Given the description of an element on the screen output the (x, y) to click on. 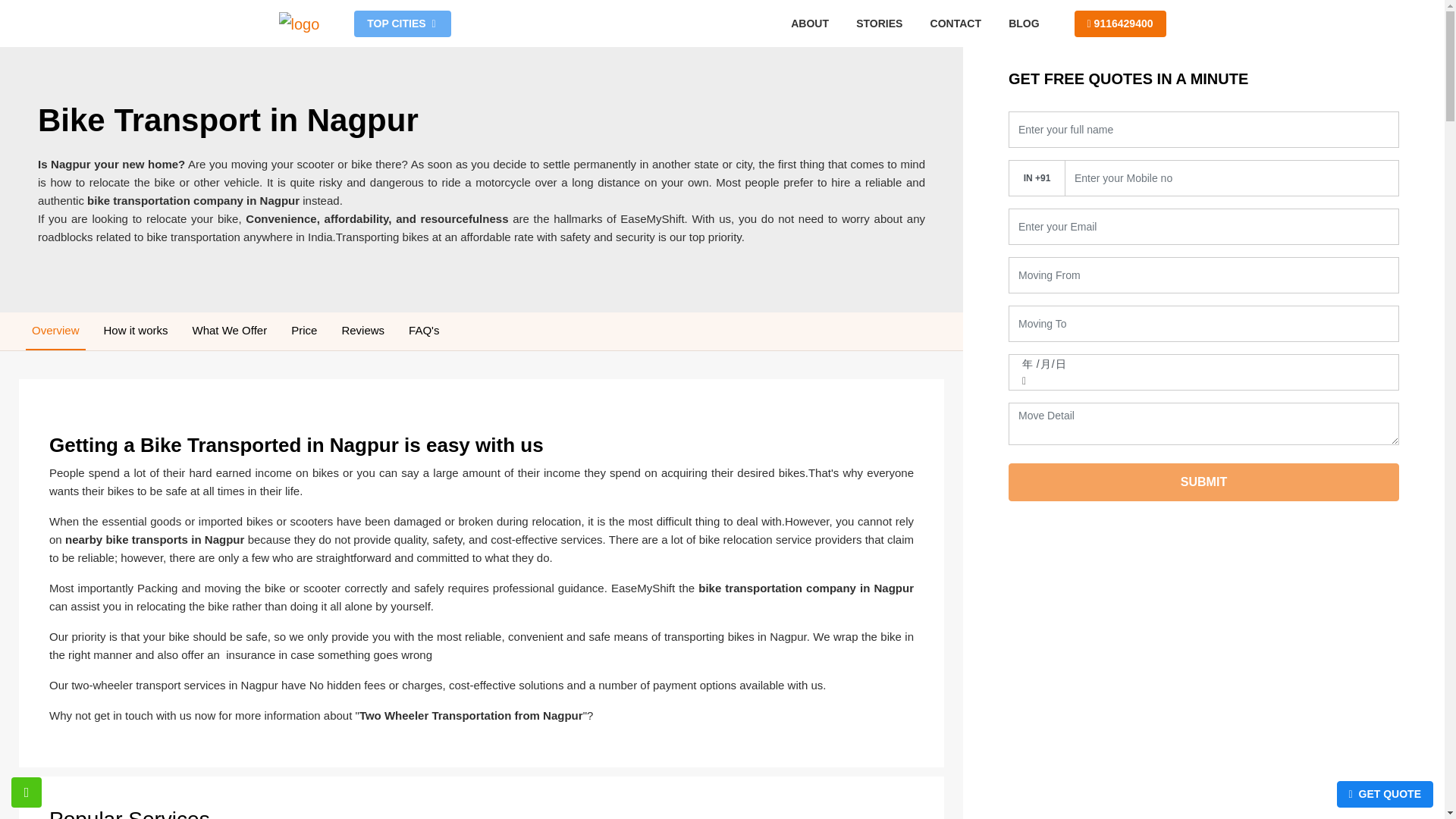
What We Offer (229, 331)
What We Offer (229, 331)
BLOG (1024, 23)
Price (304, 331)
How it works (135, 331)
Reviews (362, 331)
Reviews (362, 331)
FAQ's (424, 331)
ABOUT (809, 23)
How it works (135, 331)
